Given the description of an element on the screen output the (x, y) to click on. 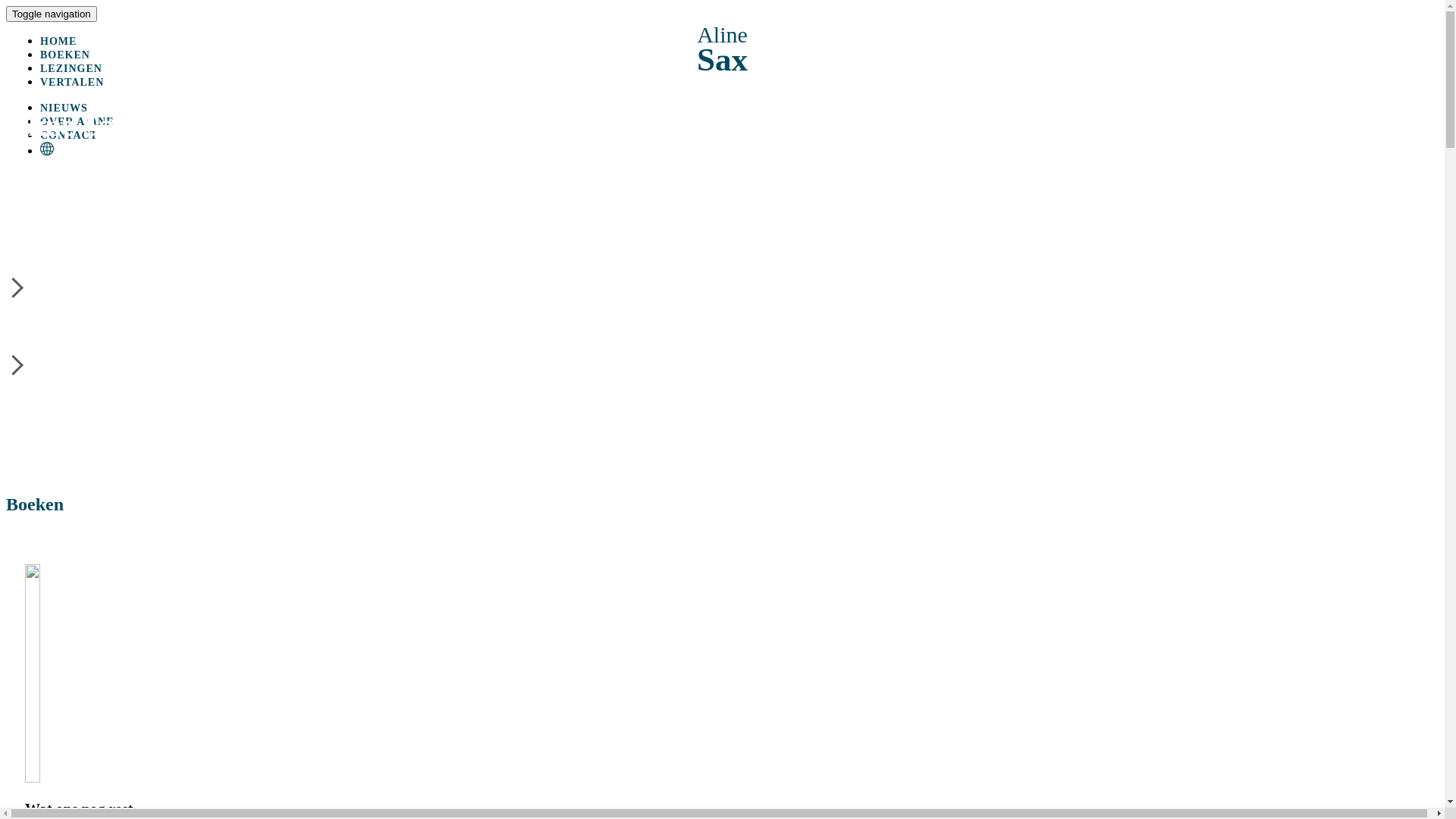
Contact Element type: text (68, 339)
Aline
Sax Element type: text (721, 49)
HOME Element type: text (58, 41)
VERTALEN Element type: text (71, 81)
Over Aline Element type: text (722, 300)
Over Aline Element type: text (67, 262)
Wat ons nog rest Element type: text (722, 691)
NIEUWS Element type: text (63, 107)
BOEKEN Element type: text (65, 54)
OVER ALINE Element type: text (77, 121)
Contact Element type: text (722, 371)
CONTACT Element type: text (68, 135)
Toggle navigation Element type: text (51, 13)
LEZINGEN Element type: text (71, 68)
